Given the description of an element on the screen output the (x, y) to click on. 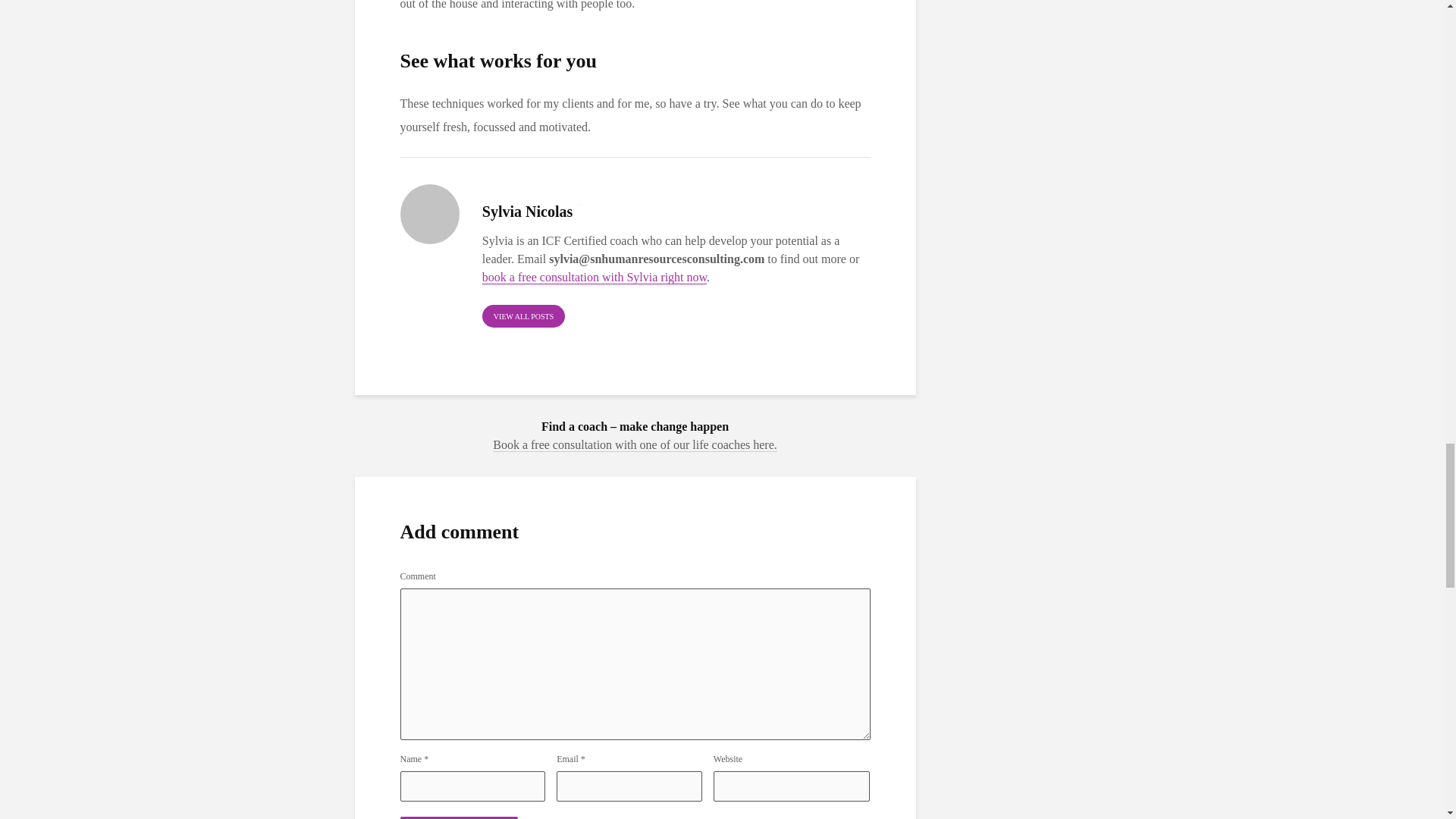
Book a free consultation with one of our life coaches here. (635, 445)
Submit Comment (459, 817)
book a free consultation with Sylvia right now (593, 277)
VIEW ALL POSTS (522, 315)
Submit Comment (459, 817)
